Given the description of an element on the screen output the (x, y) to click on. 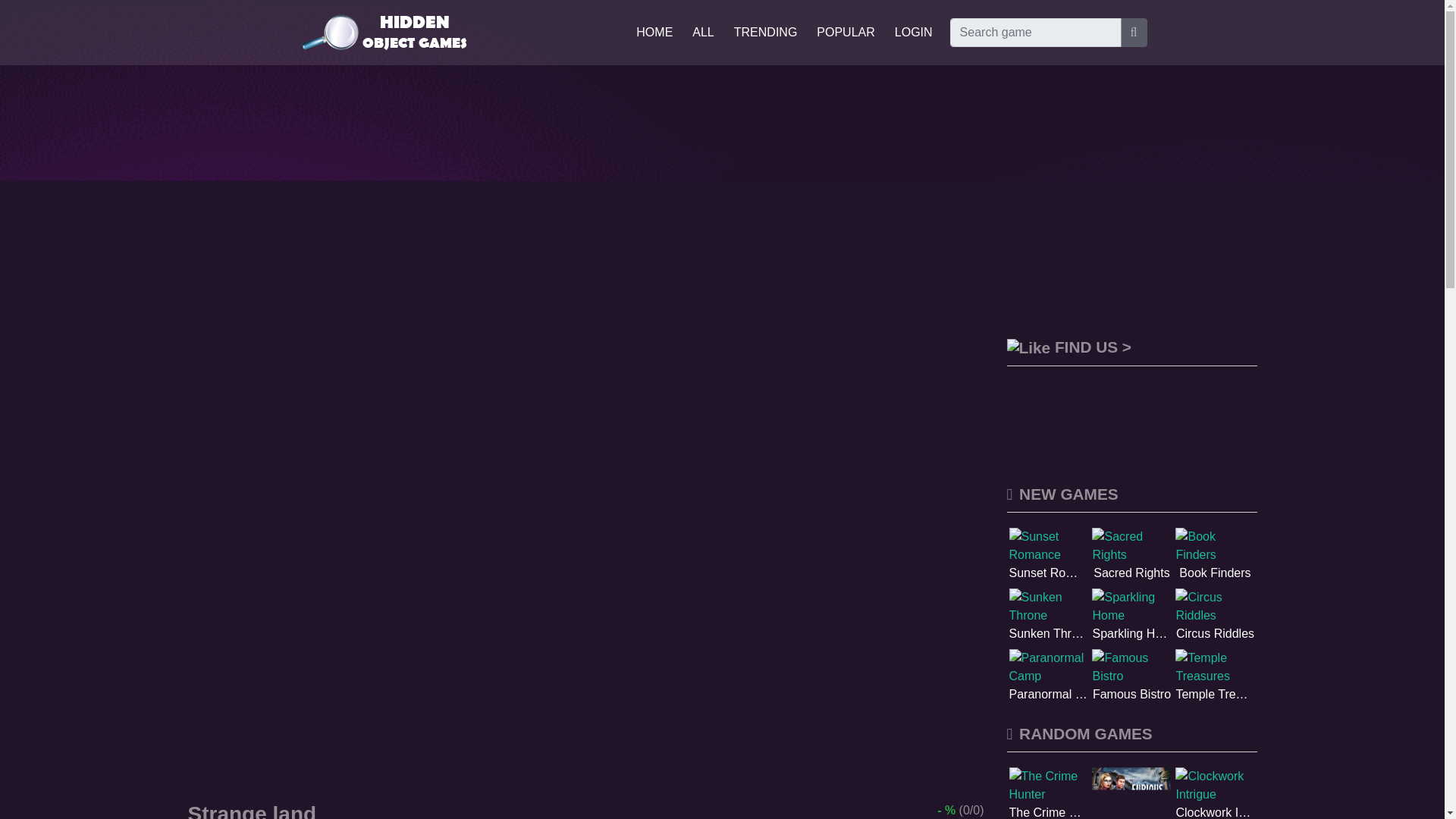
POPULAR (845, 32)
Temple Treasures (1213, 676)
Sacred Rights (1131, 554)
Sunken Throne (1048, 615)
Clockwork Intrigue (1213, 793)
Famous Bistro (1131, 676)
Paranormal Camp (1048, 676)
Circus Riddles (1213, 615)
ALL (702, 32)
Furious Storm (1131, 793)
Book Finders (1213, 554)
Sunset Romance (1048, 554)
The Crime Hunter (1048, 793)
Sparkling Home (1131, 615)
TRENDING (765, 32)
